Given the description of an element on the screen output the (x, y) to click on. 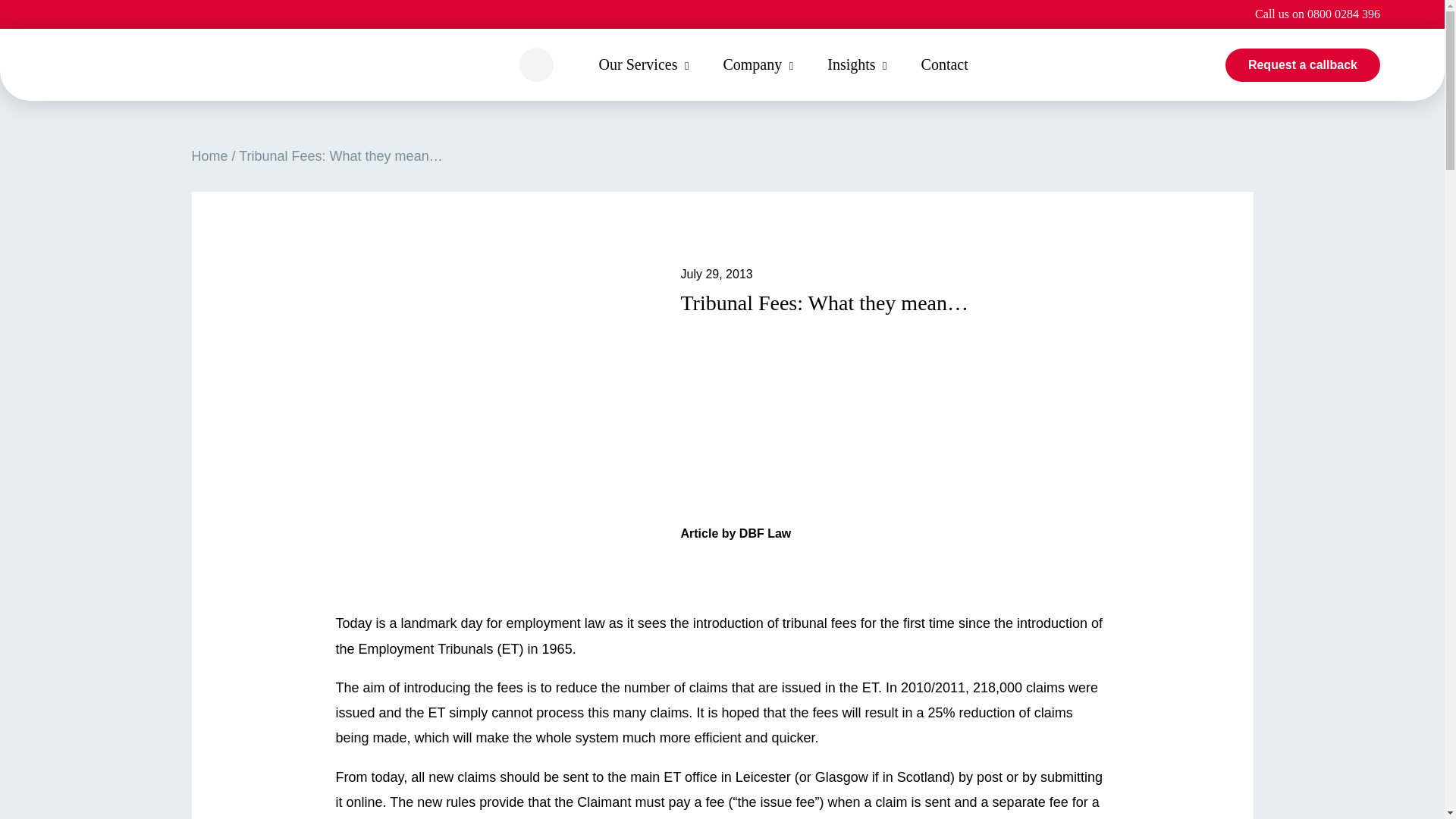
Insights (851, 64)
Our Services (638, 64)
Company (751, 64)
Telephone (1317, 14)
Request a callback (1302, 64)
Request Callback (1302, 64)
Davis Blank Furniss Solicitors (163, 64)
Call us on 0800 0284 396 (1317, 14)
Contact (944, 64)
